Given the description of an element on the screen output the (x, y) to click on. 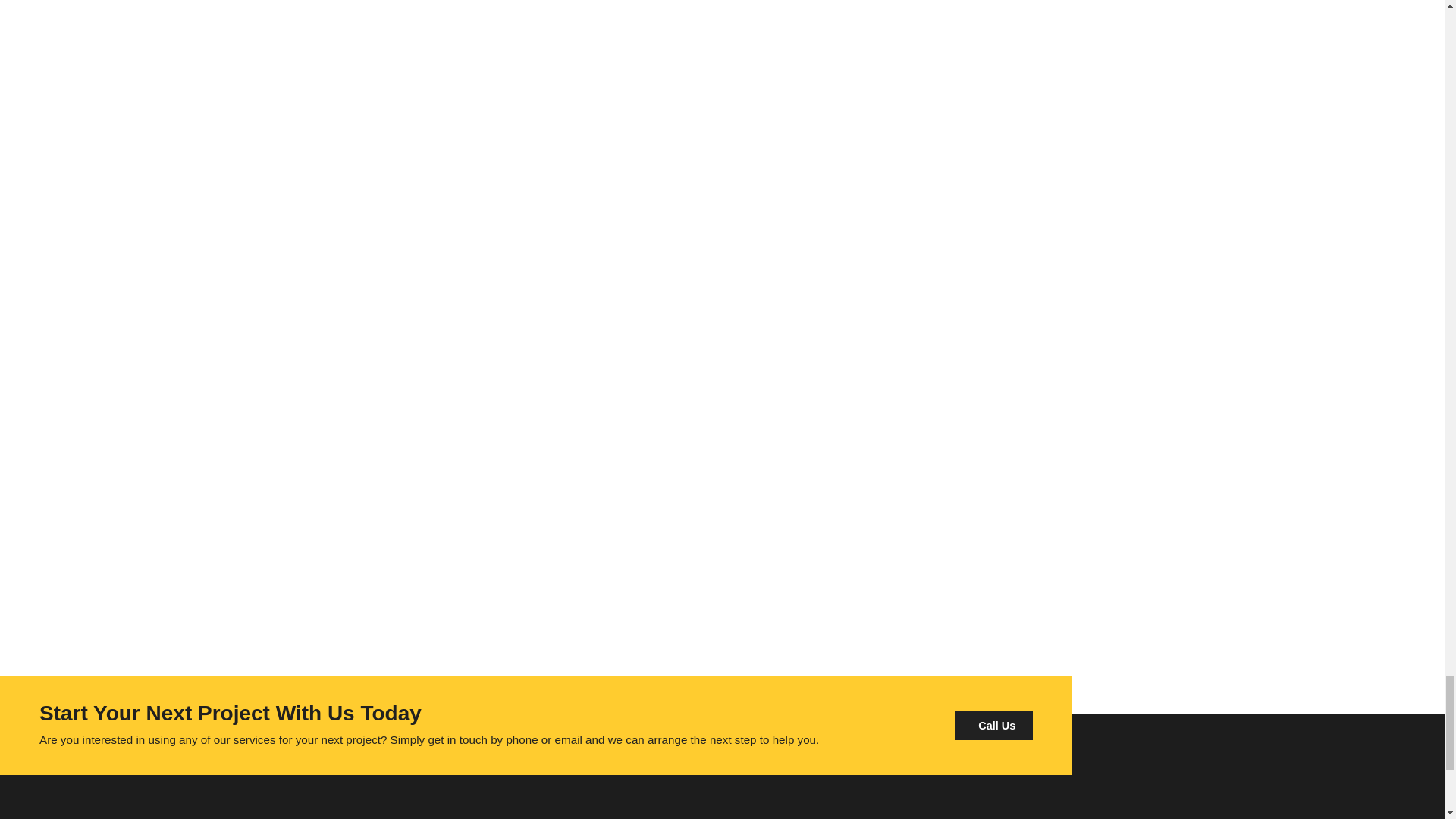
Home (320, 814)
  Call Us (993, 725)
